Given the description of an element on the screen output the (x, y) to click on. 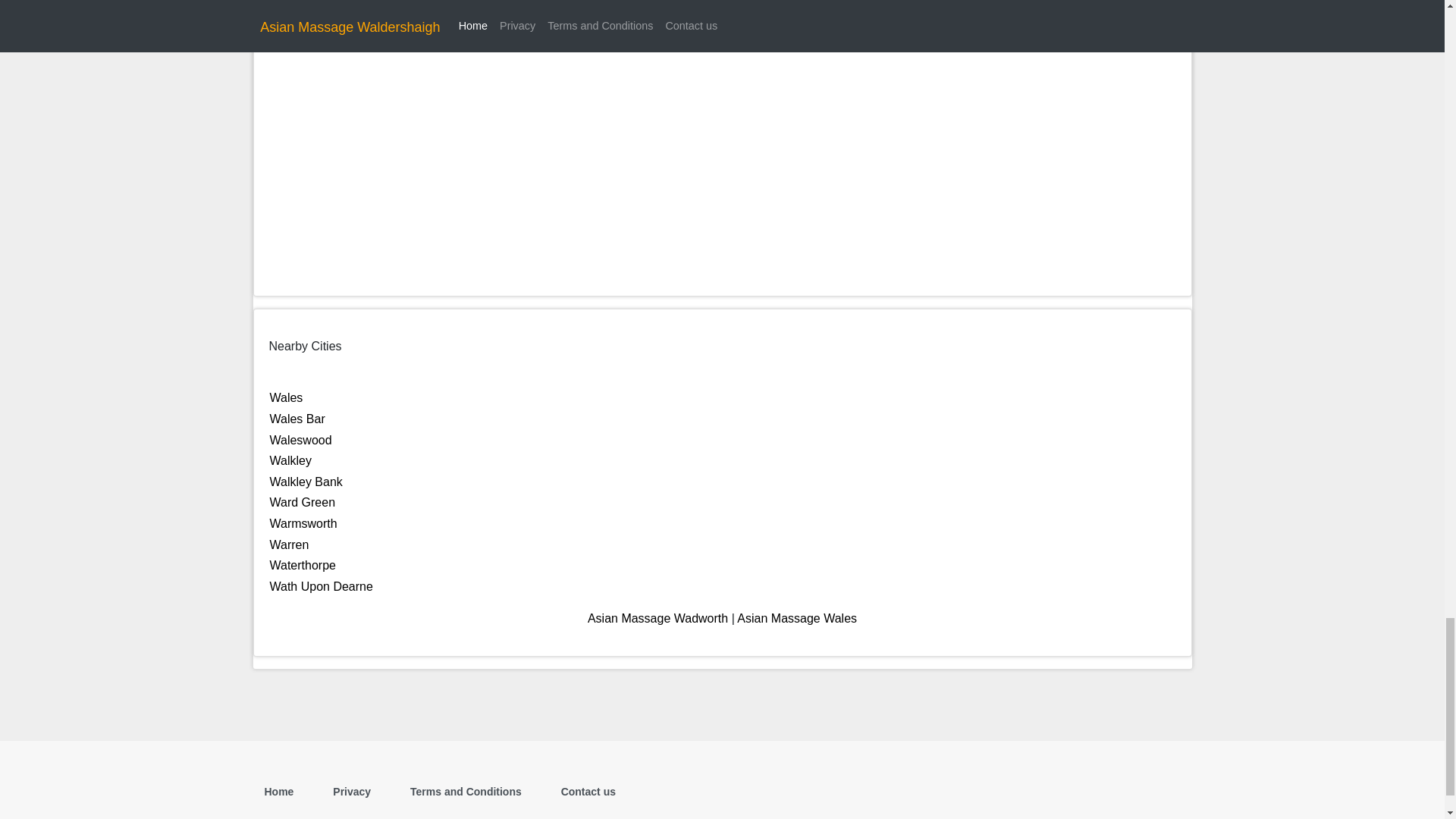
Warren (288, 544)
Wales Bar (296, 418)
Asian Massage Wales (796, 617)
Asian Massage Wadworth (658, 617)
Walkley Bank (305, 481)
Warmsworth (303, 522)
Waleswood (300, 440)
Waterthorpe (302, 564)
Wath Upon Dearne (320, 585)
Walkley (290, 460)
